Given the description of an element on the screen output the (x, y) to click on. 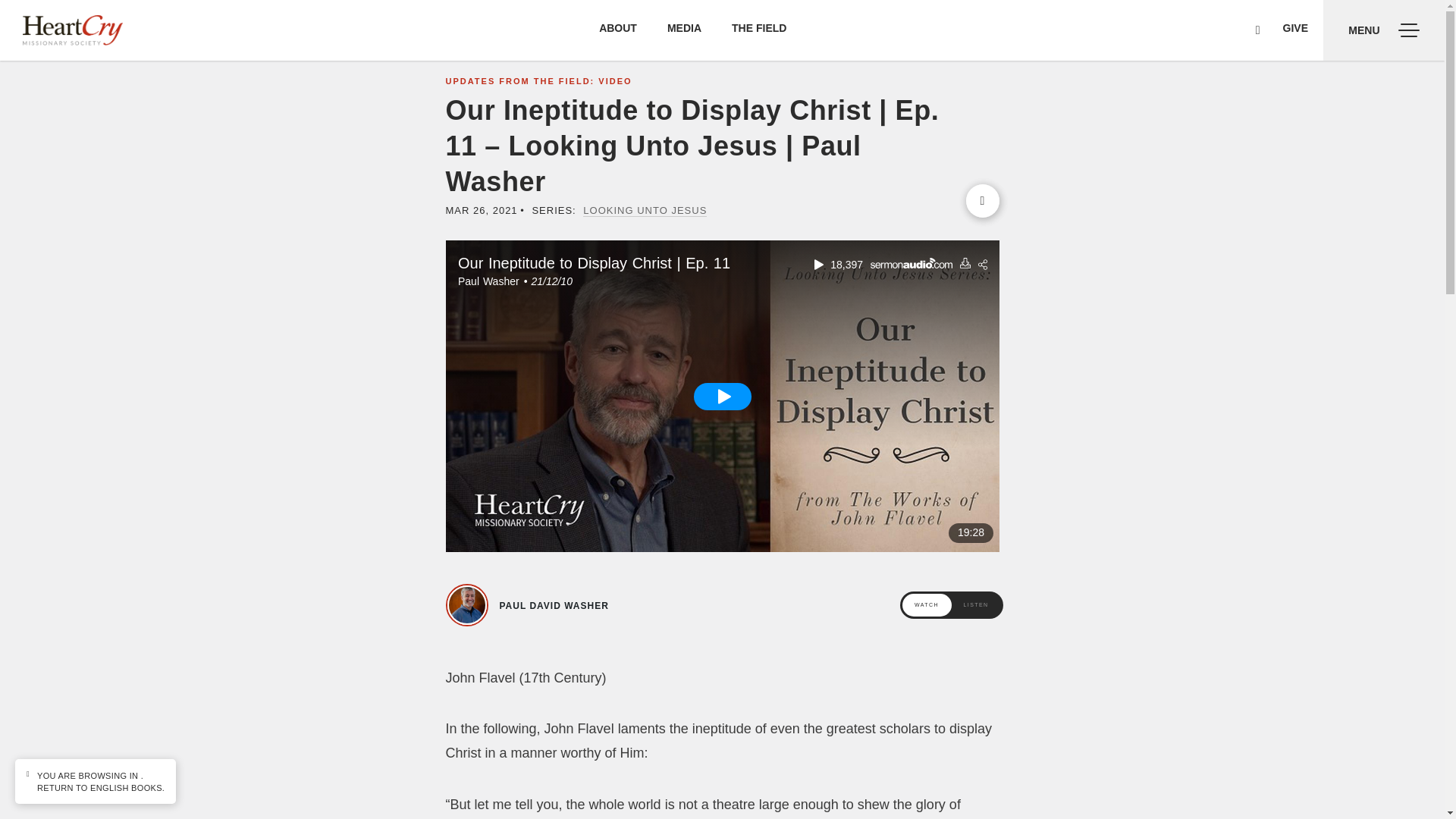
MEDIA (684, 28)
ABOUT (617, 28)
THE FIELD (759, 28)
